Given the description of an element on the screen output the (x, y) to click on. 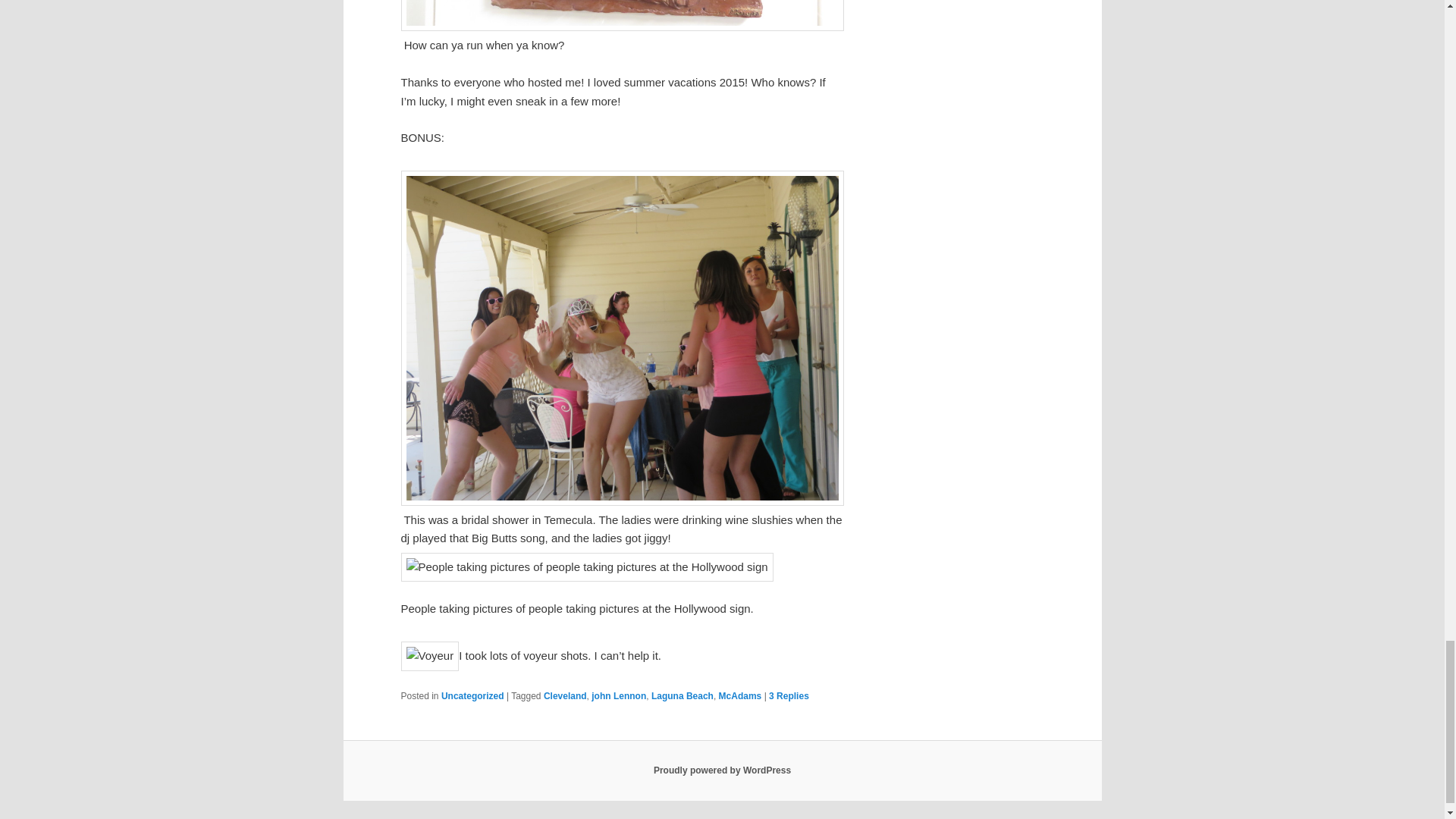
Uncategorized (472, 696)
3 Replies (788, 696)
Proudly powered by WordPress (721, 769)
john Lennon (618, 696)
Semantic Personal Publishing Platform (721, 769)
Laguna Beach (681, 696)
Cleveland (564, 696)
McAdams (740, 696)
